Given the description of an element on the screen output the (x, y) to click on. 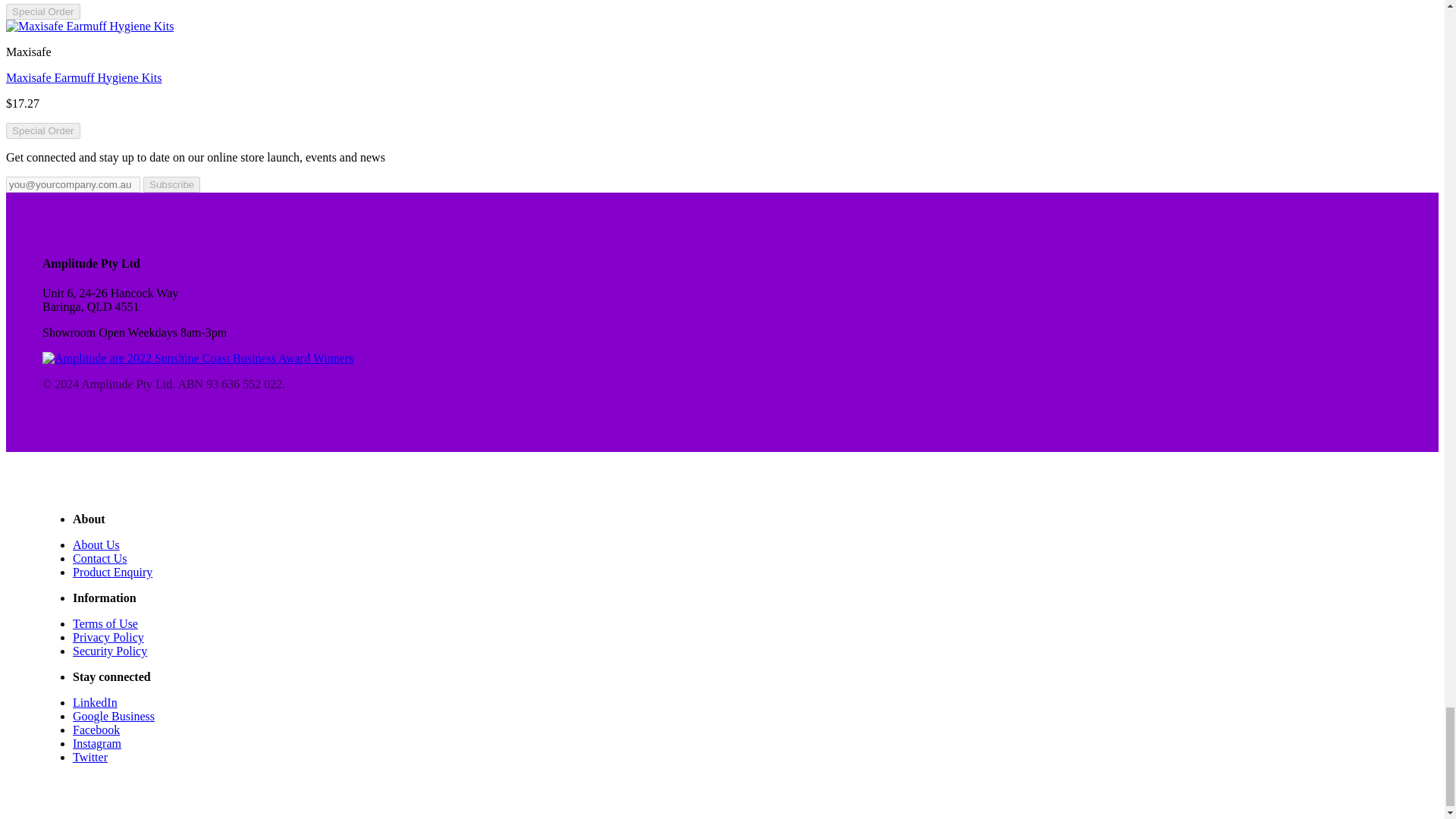
Add Maxisafe Earmuff Hygiene Kits to Cart (42, 130)
Subscribe (171, 184)
Add Yellow Maxisafe 3005 Neck Style Earmuff to Cart (42, 11)
